Given the description of an element on the screen output the (x, y) to click on. 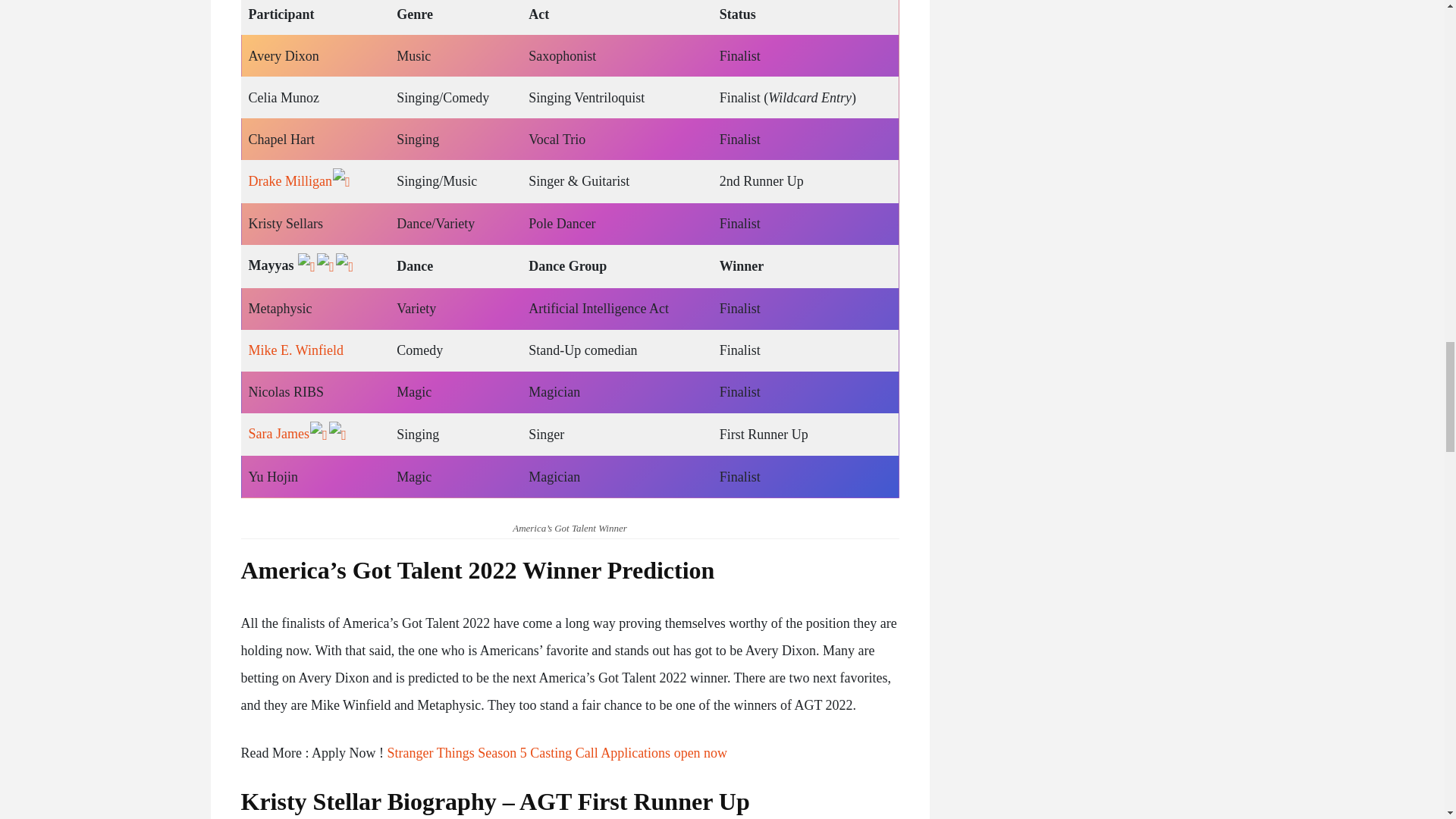
Mike E. Winfield (295, 350)
Sara James (278, 433)
Drake Milligan (289, 180)
Stranger Things Season 5 Casting Call Applications open now (556, 752)
